Given the description of an element on the screen output the (x, y) to click on. 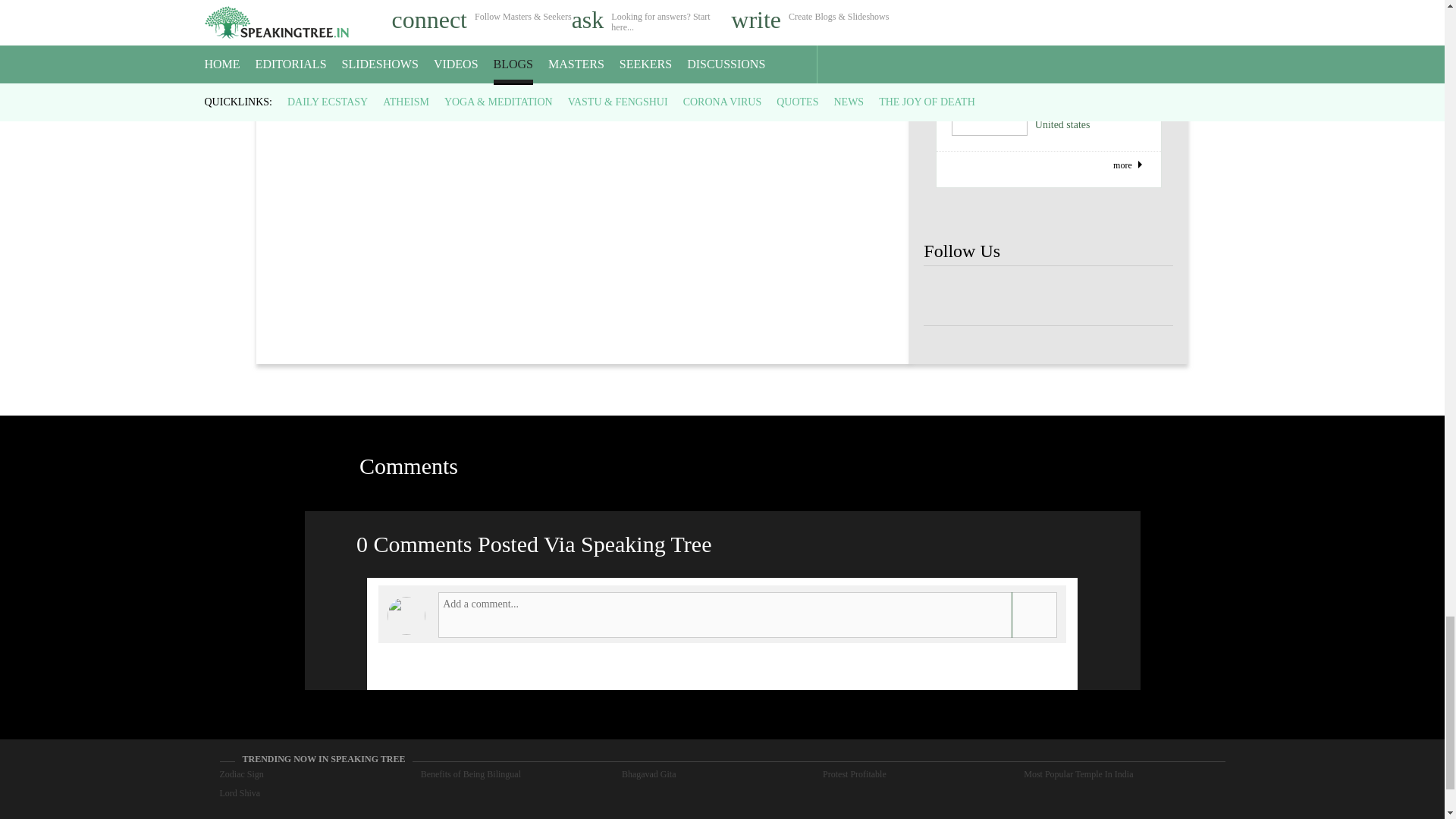
Speaking Tree FaceBook (948, 296)
Speaking Tree FaceBook (998, 296)
Speaking Tree FaceBook (1099, 296)
Speaking Tree FaceBook (1048, 296)
Speaking Tree FaceBook (1147, 296)
